Given the description of an element on the screen output the (x, y) to click on. 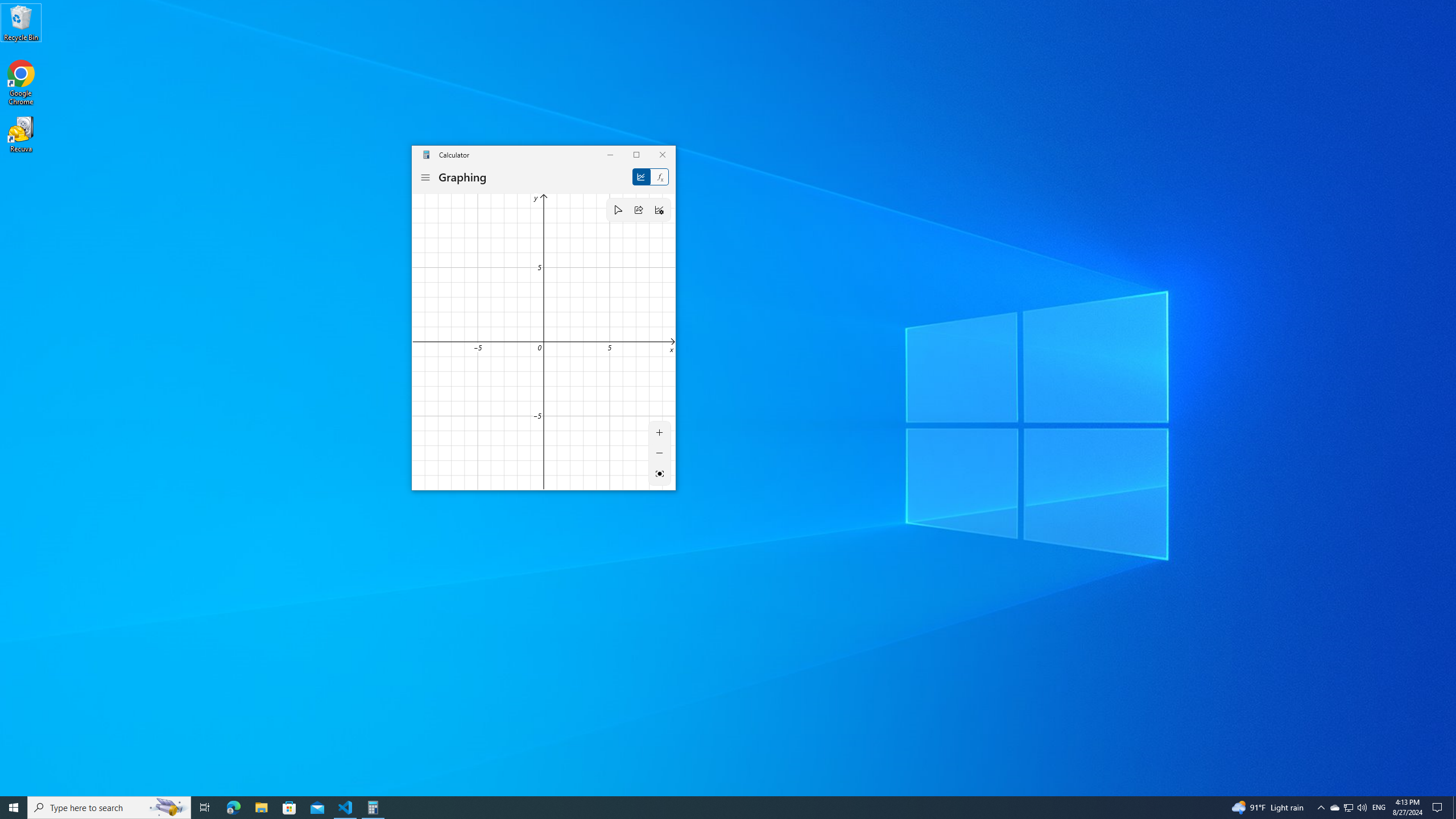
Google Chrome (21, 82)
